Given the description of an element on the screen output the (x, y) to click on. 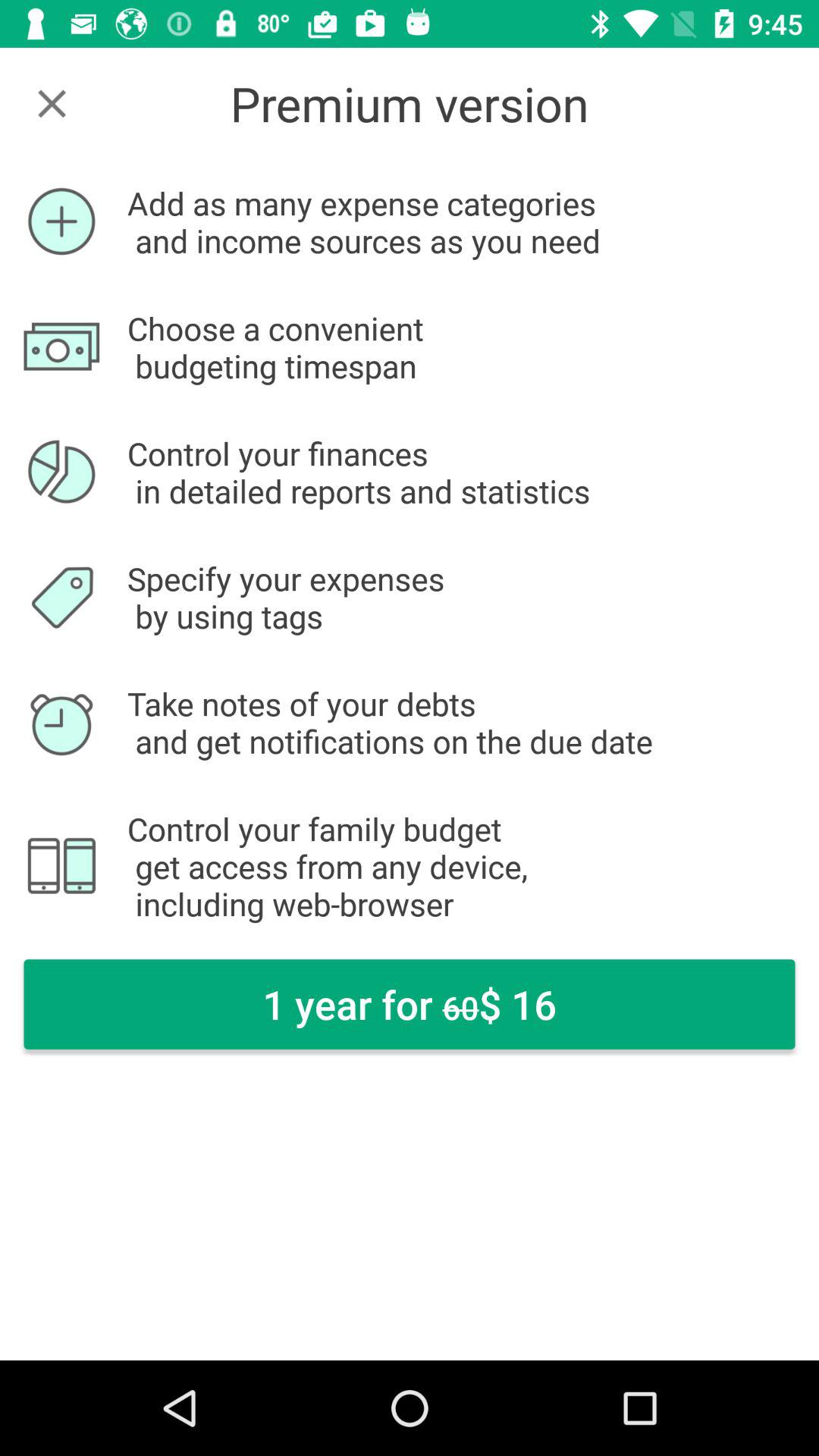
launch icon at the top left corner (51, 103)
